Given the description of an element on the screen output the (x, y) to click on. 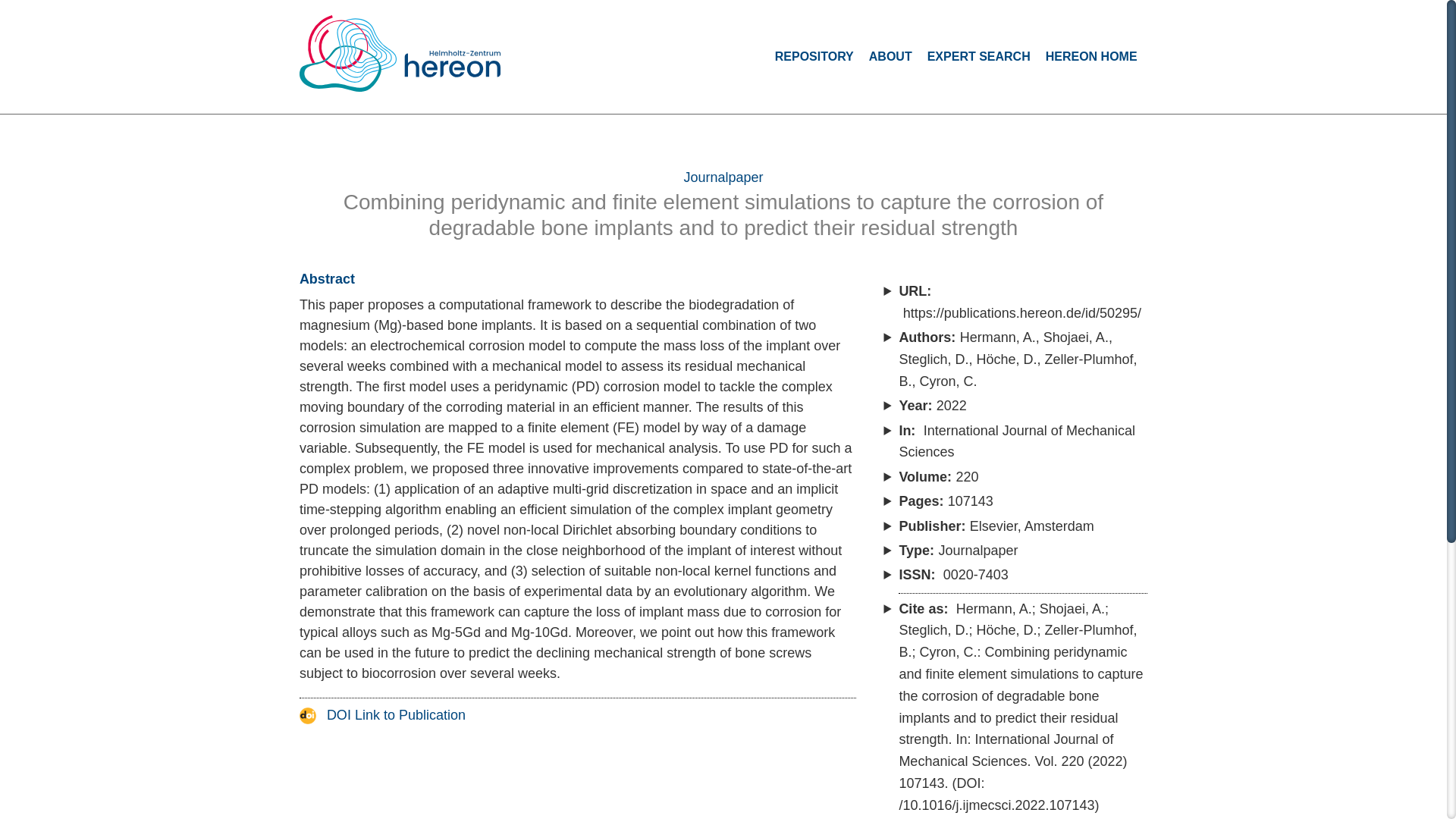
Publications Homepage (399, 53)
ABOUT (890, 56)
HEREON HOME (1091, 56)
EXPERT SEARCH (978, 56)
Back to Publications Homepage (409, 60)
REPOSITORY (813, 56)
Publications Homepage (409, 60)
DOI Link to Publication (382, 715)
